Given the description of an element on the screen output the (x, y) to click on. 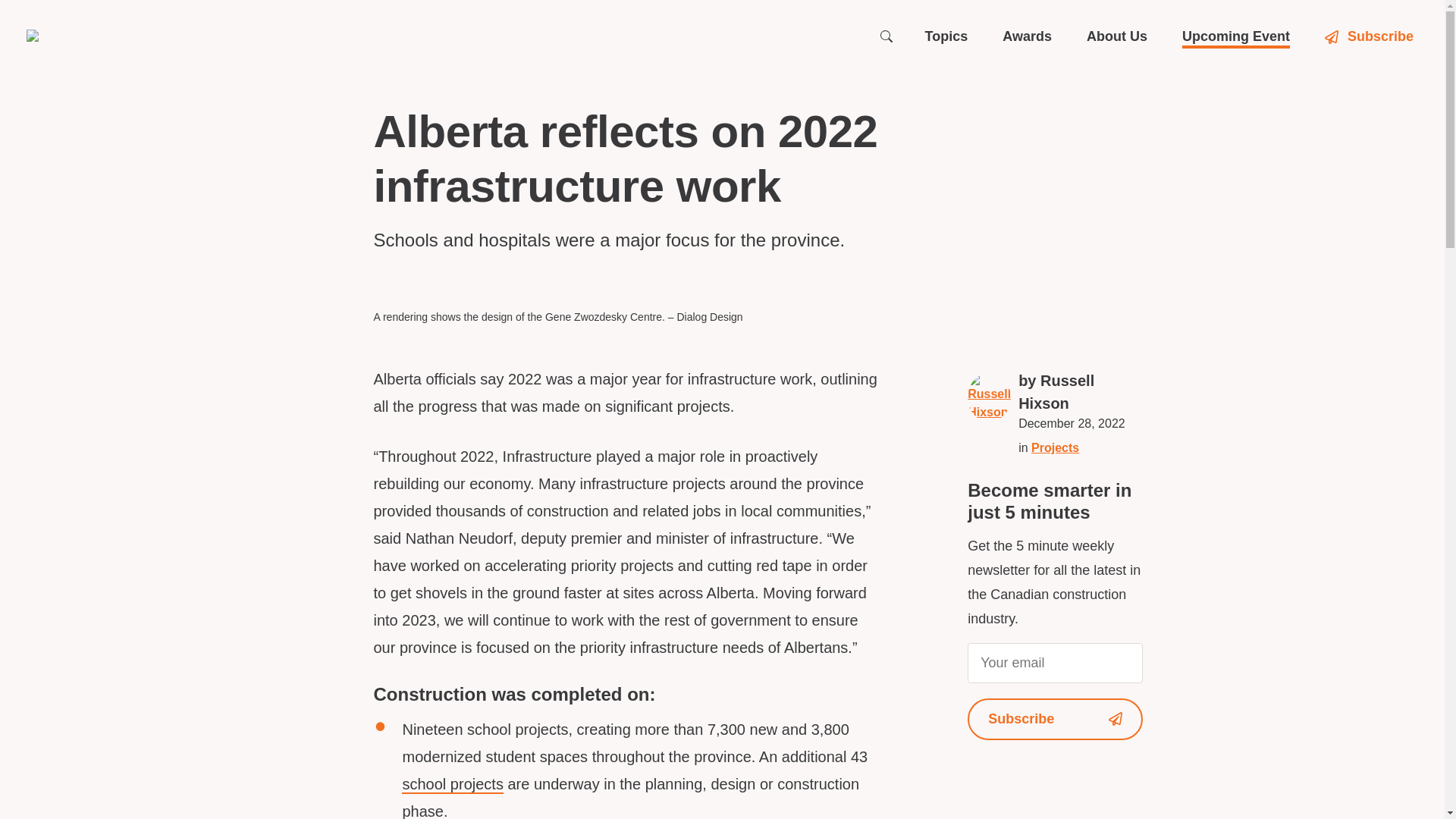
Subscribe (1055, 719)
About Us (1116, 36)
Topics (946, 36)
Subscribe (1371, 36)
Awards (1026, 36)
Projects (1054, 447)
school projects (451, 784)
by Russell Hixson (1079, 391)
Upcoming Event (1235, 36)
